Given the description of an element on the screen output the (x, y) to click on. 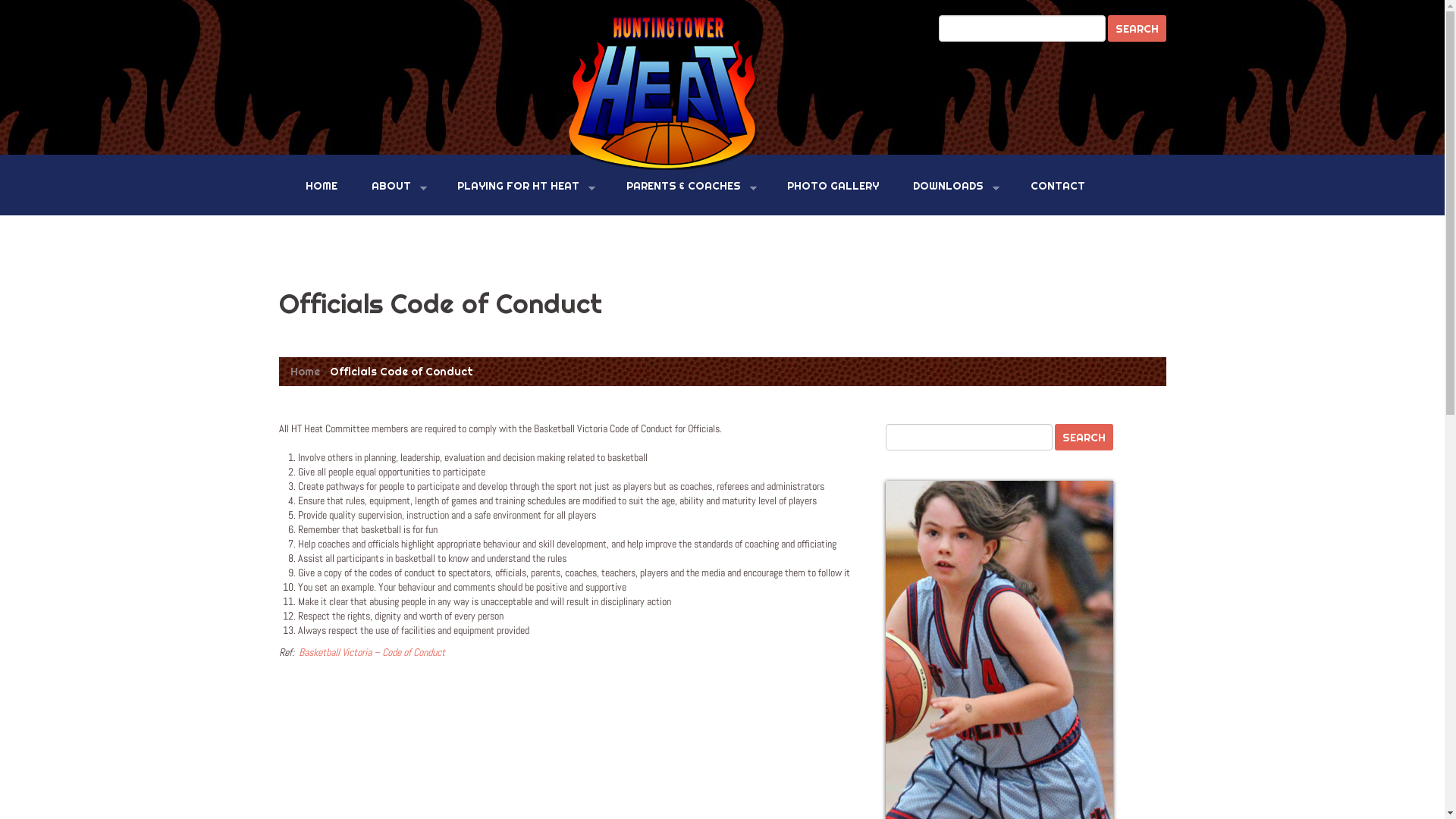
PHOTO GALLERY Element type: text (832, 185)
search Element type: text (1136, 28)
search Element type: text (1083, 436)
HOME Element type: text (321, 185)
Home Element type: text (304, 371)
CONTACT Element type: text (1057, 185)
